Given the description of an element on the screen output the (x, y) to click on. 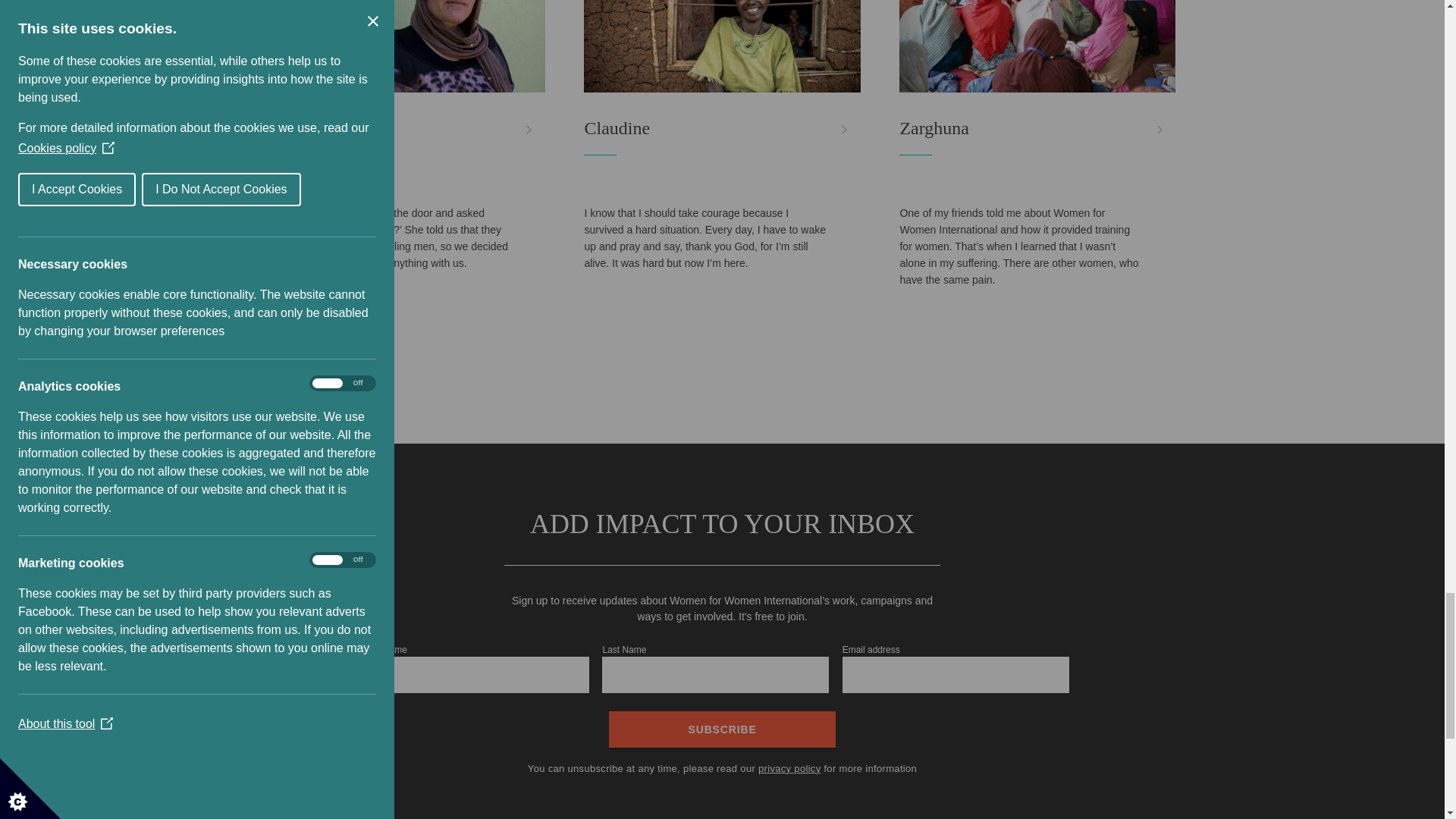
Subscribe (721, 729)
